Given the description of an element on the screen output the (x, y) to click on. 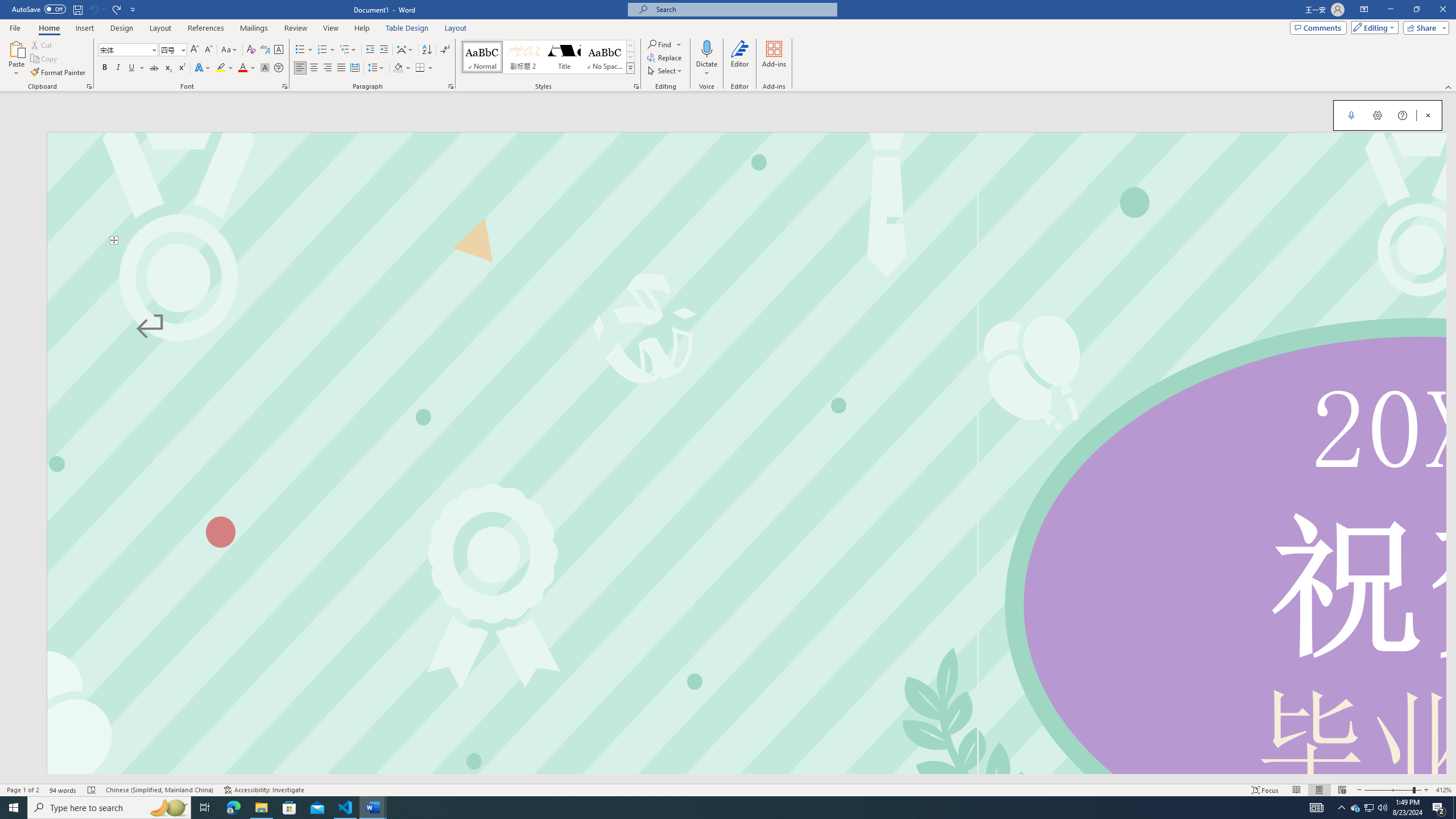
Bold (104, 67)
Borders (424, 67)
Zoom In (1426, 790)
Minimize (1390, 9)
Character Shading (264, 67)
Layout (455, 28)
Paste (16, 48)
Spelling and Grammar Check Errors (91, 790)
Subscript (167, 67)
